Given the description of an element on the screen output the (x, y) to click on. 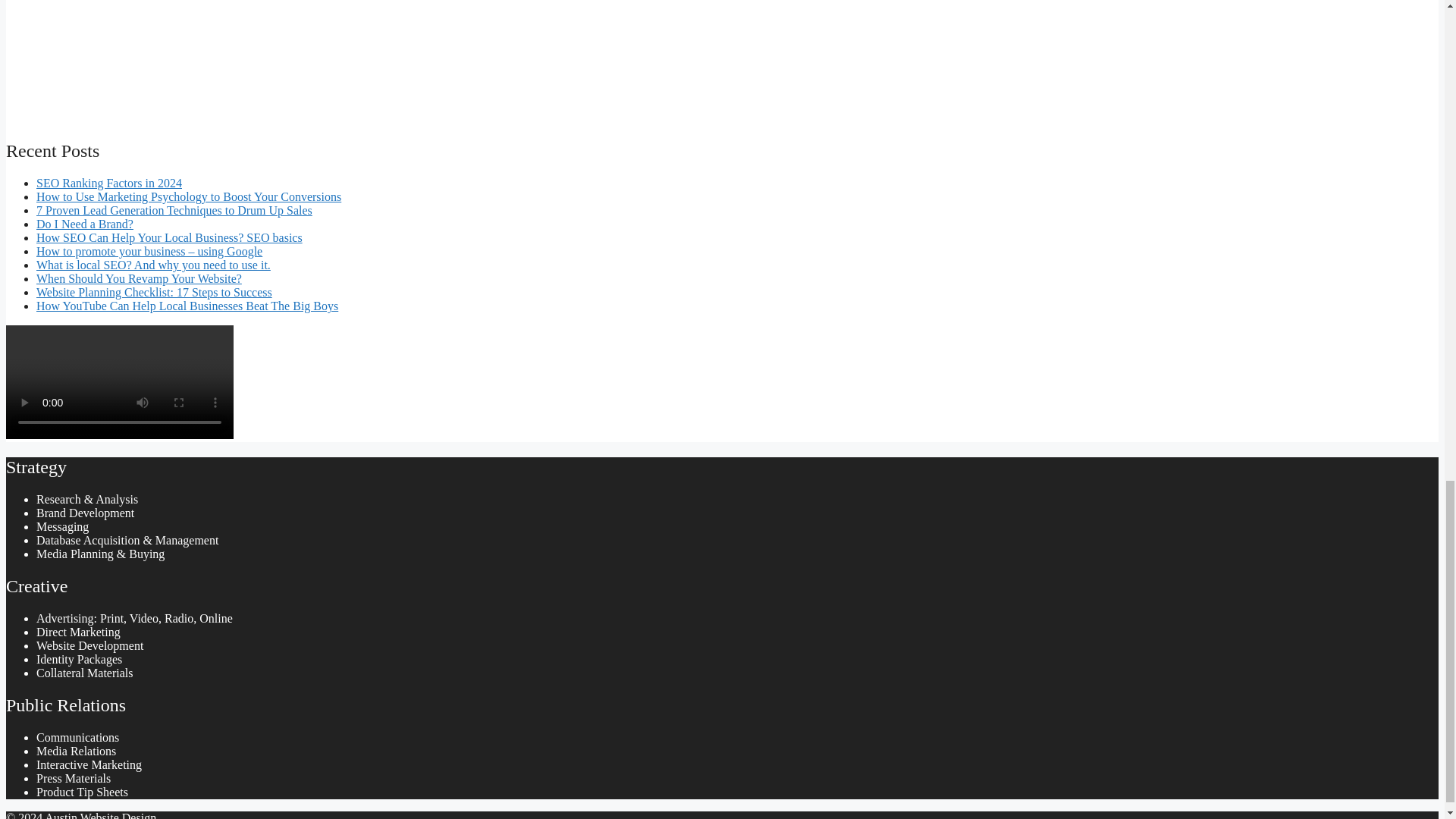
Do I Need a Brand? (84, 223)
How YouTube Can Help Local Businesses Beat The Big Boys (186, 305)
Website Planning Checklist: 17 Steps to Success (154, 291)
What is local SEO? And why you need to use it. (153, 264)
7 Proven Lead Generation Techniques to Drum Up Sales (174, 210)
SEO Ranking Factors in 2024 (109, 182)
How SEO Can Help Your Local Business? SEO basics (169, 237)
When Should You Revamp Your Website? (138, 278)
How to Use Marketing Psychology to Boost Your Conversions (188, 196)
